Given the description of an element on the screen output the (x, y) to click on. 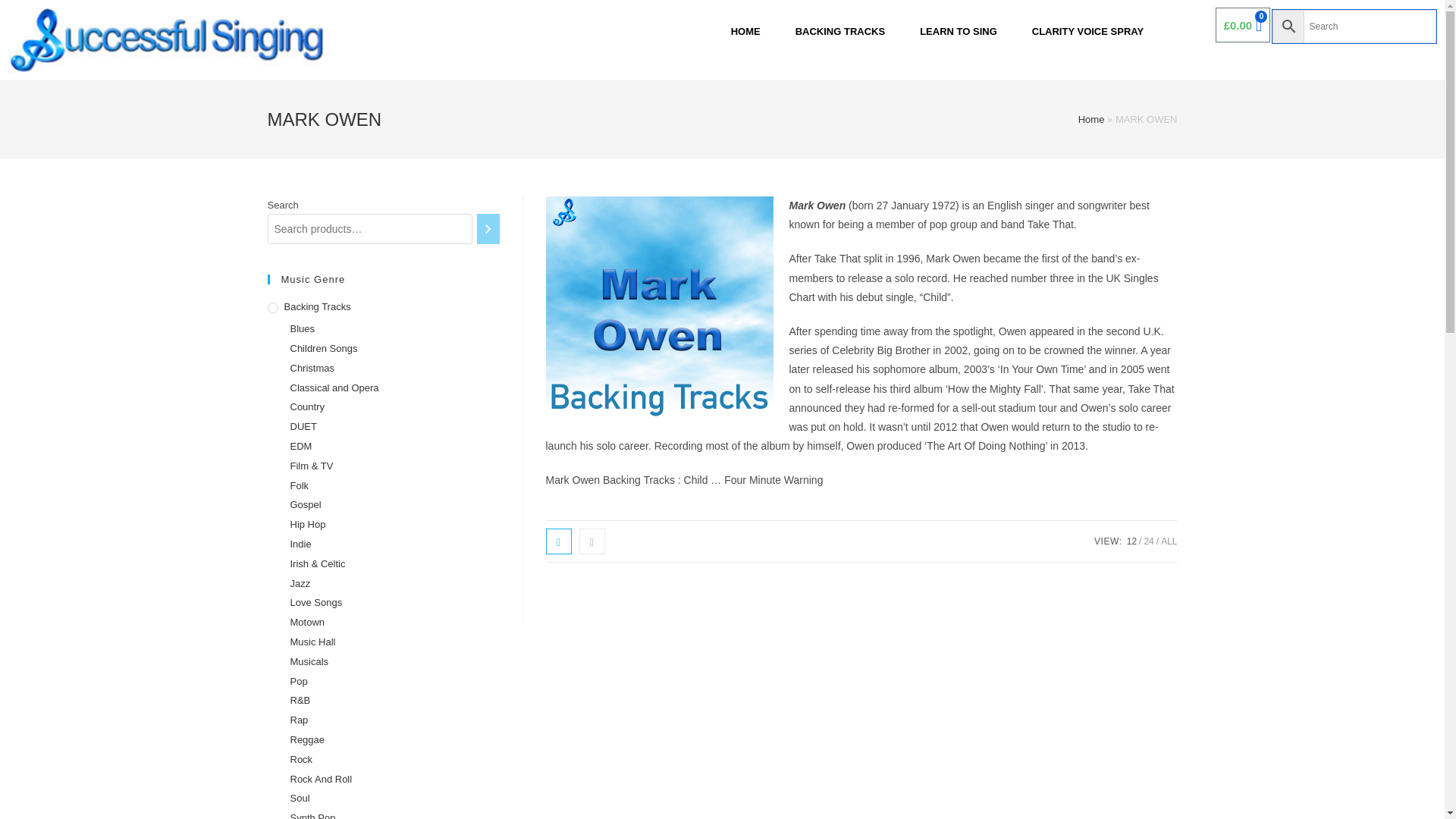
BACKING TRACKS (839, 31)
Grid view (559, 541)
LEARN TO SING (957, 31)
List view (592, 541)
HOME (745, 31)
